Given the description of an element on the screen output the (x, y) to click on. 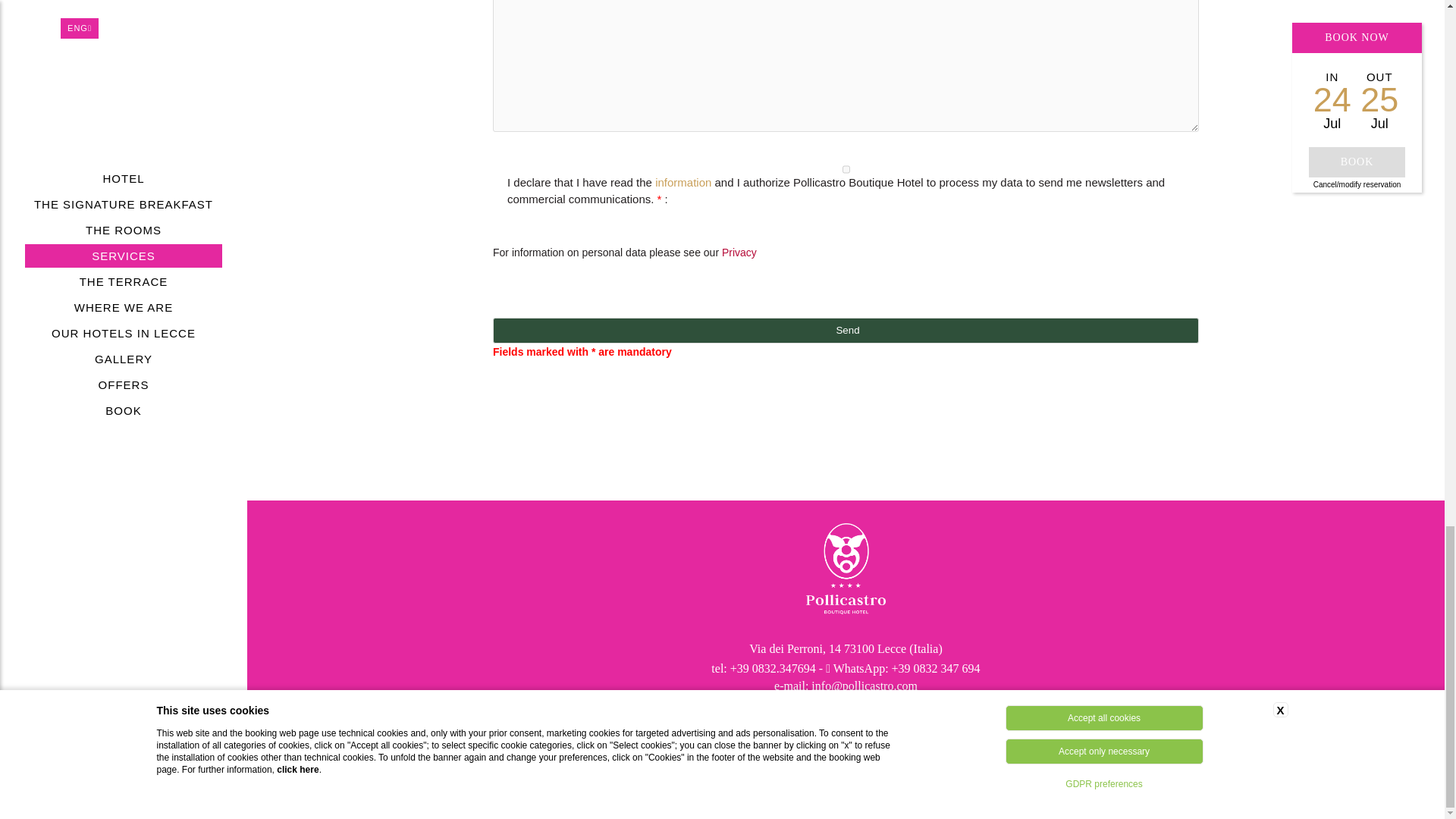
Newsletter (1074, 739)
Send (845, 330)
Privacy (770, 739)
Contacts (697, 739)
Company Data (970, 739)
Cookie Policy (858, 739)
Brochure (615, 739)
